Given the description of an element on the screen output the (x, y) to click on. 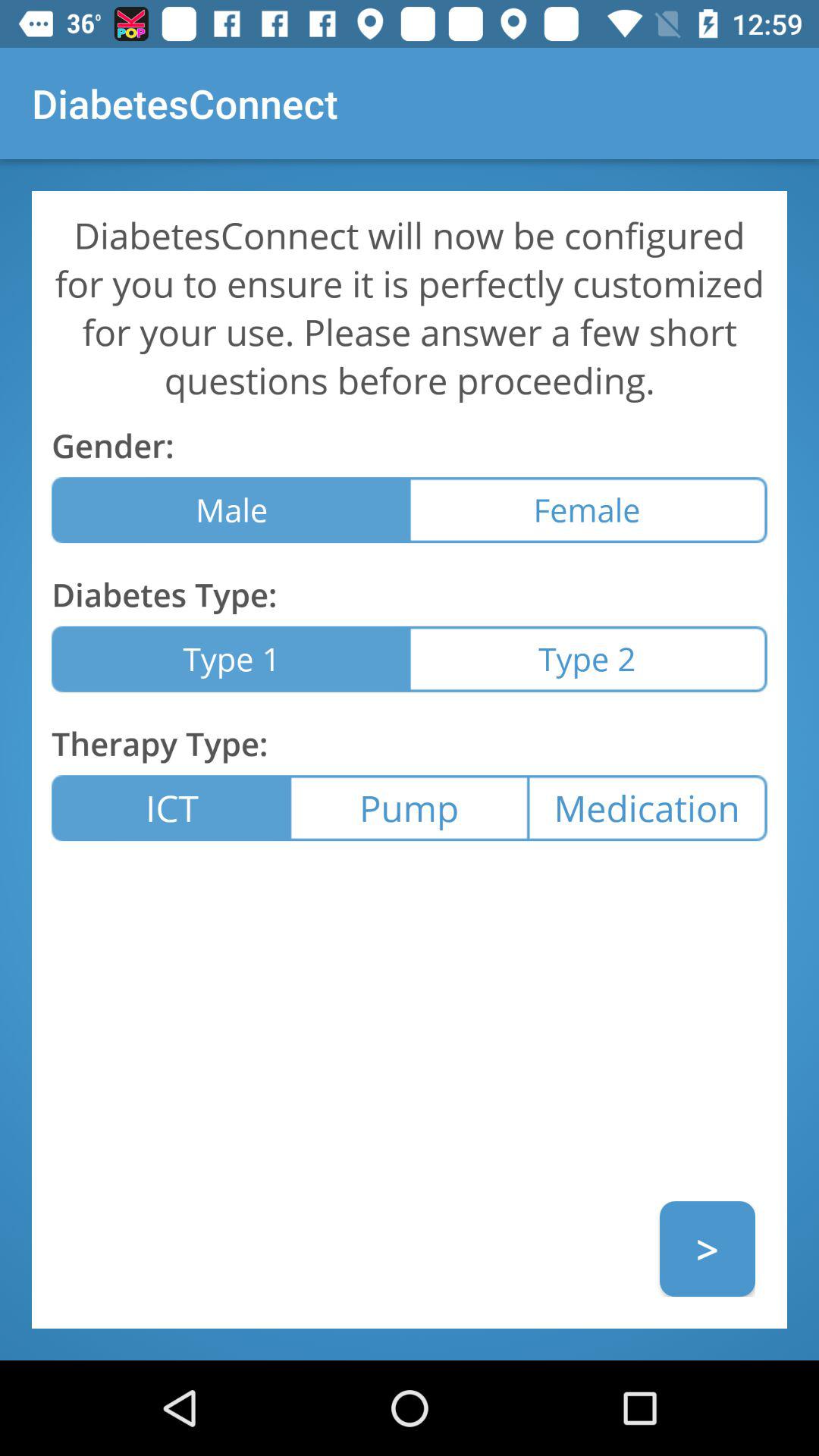
open the item above pump item (588, 659)
